Given the description of an element on the screen output the (x, y) to click on. 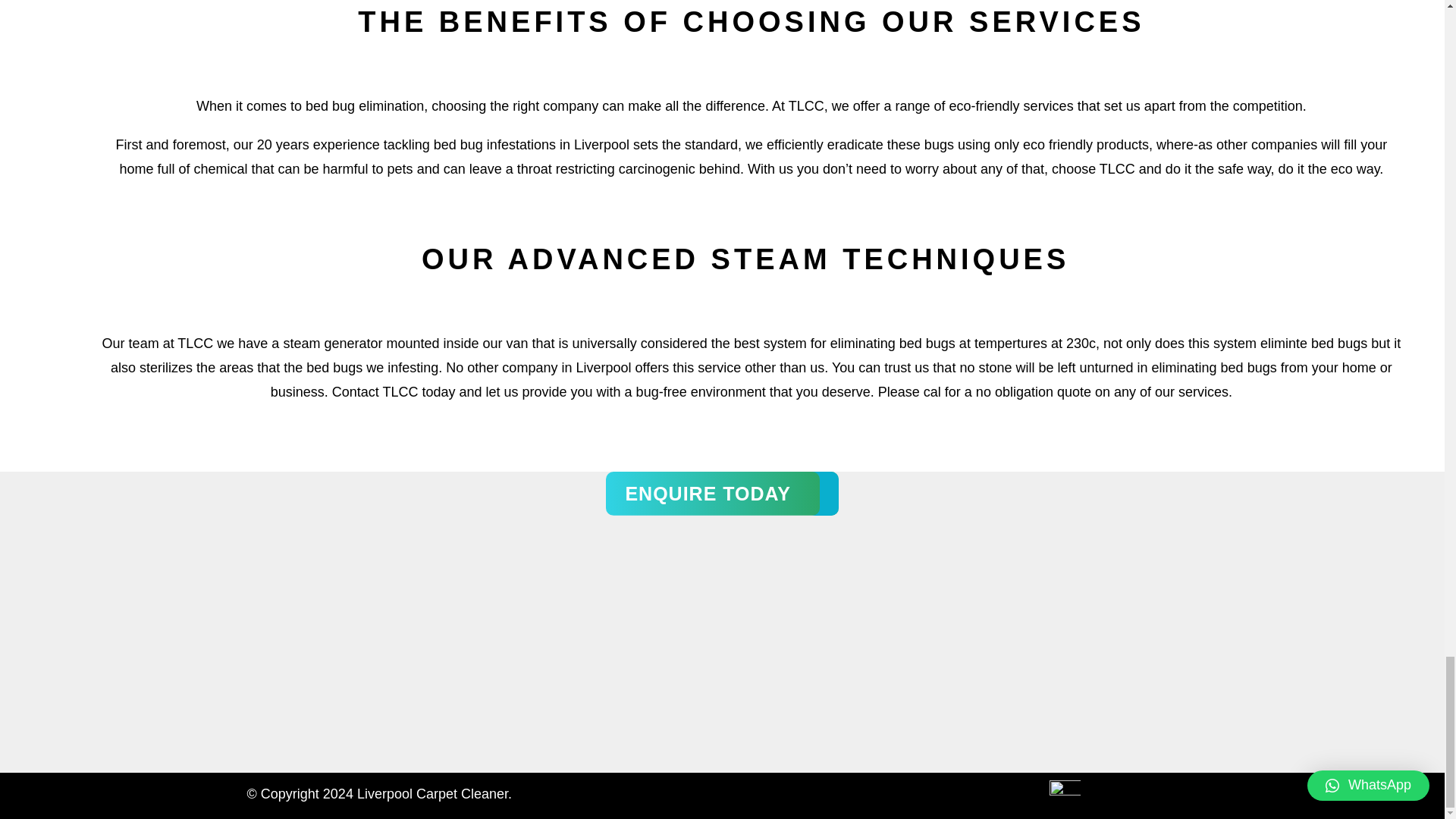
Favicon White (1064, 795)
